Given the description of an element on the screen output the (x, y) to click on. 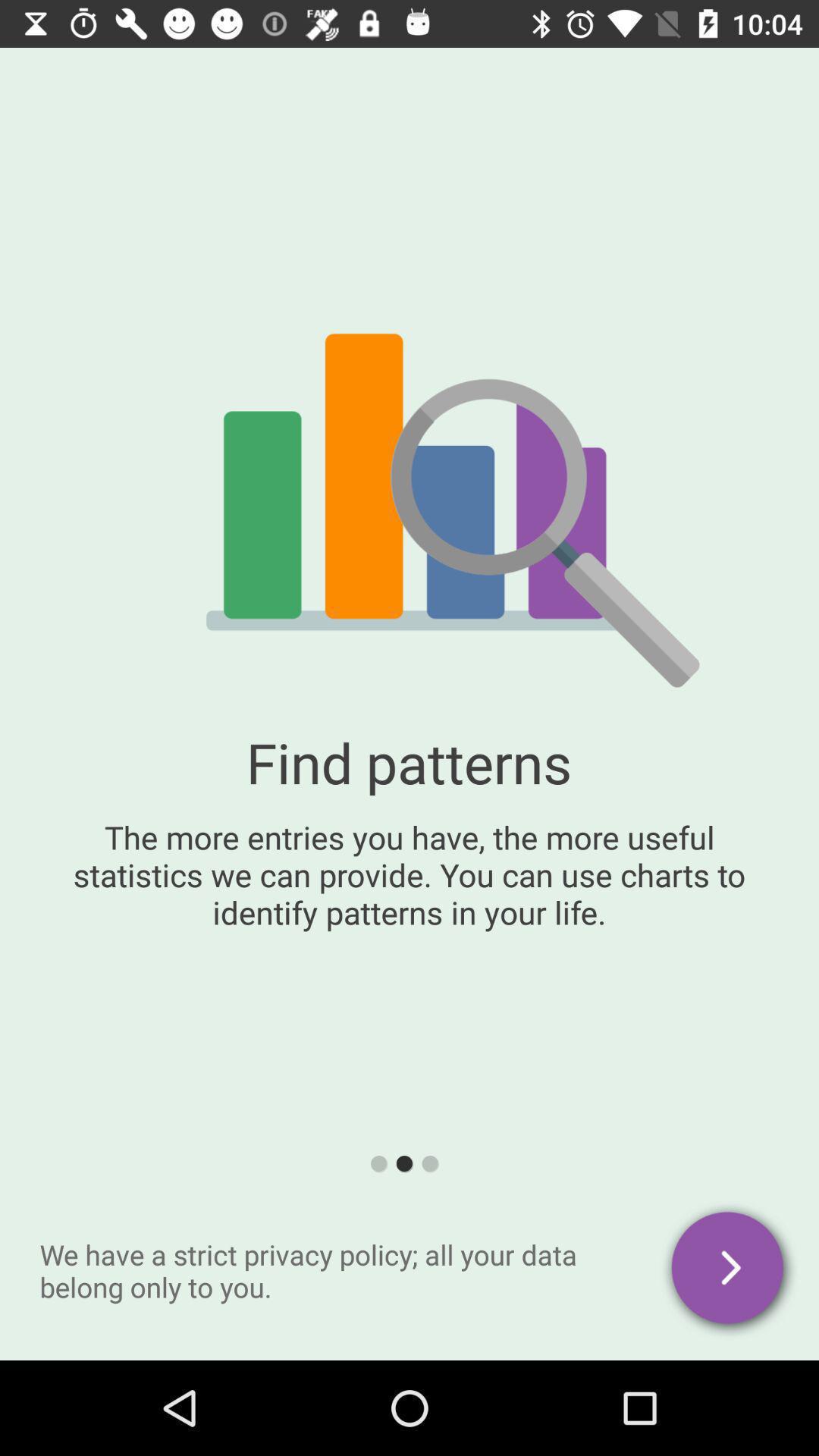
read privacy policy (729, 1270)
